Given the description of an element on the screen output the (x, y) to click on. 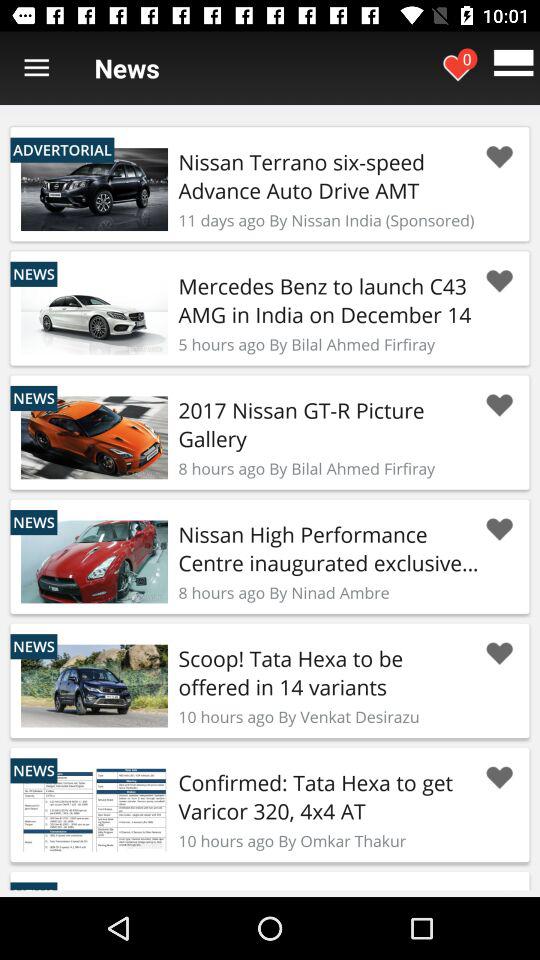
love article (499, 529)
